Given the description of an element on the screen output the (x, y) to click on. 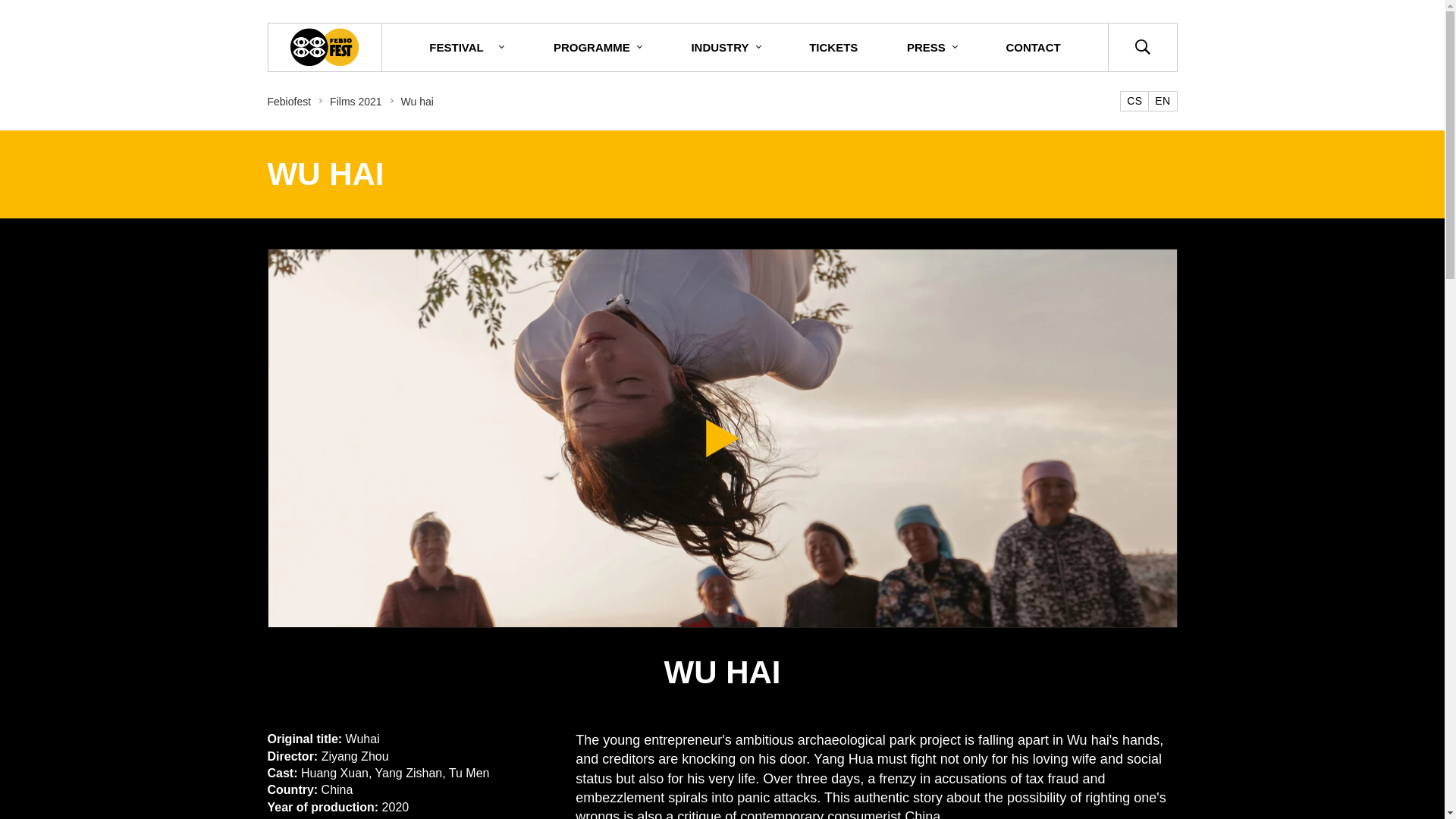
CONTACT (1032, 47)
TICKETS (833, 47)
